Given the description of an element on the screen output the (x, y) to click on. 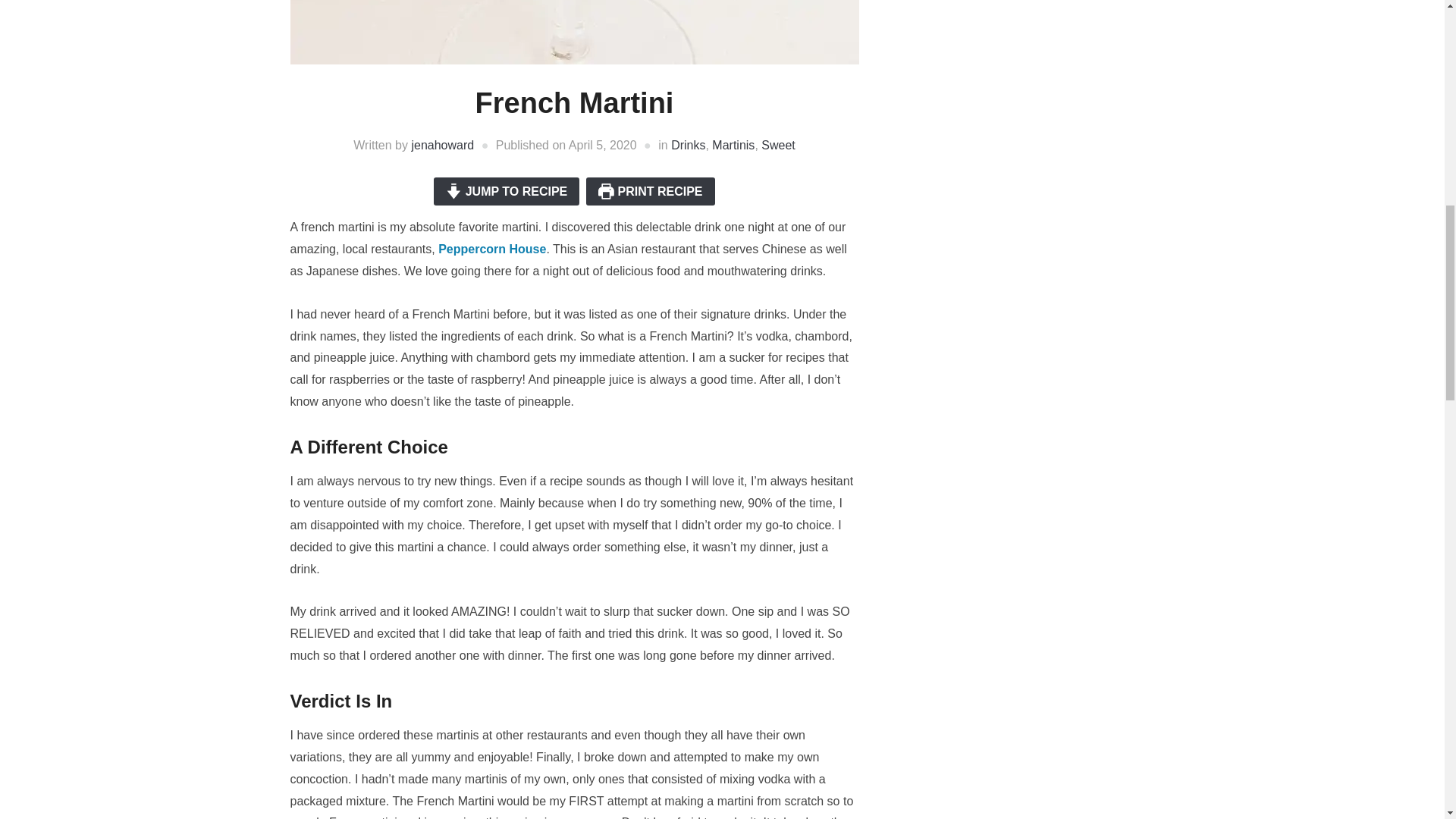
Drinks (687, 144)
jenahoward (442, 144)
Sweet (777, 144)
JUMP TO RECIPE (506, 191)
Martinis (732, 144)
Posts by jenahoward (442, 144)
